Given the description of an element on the screen output the (x, y) to click on. 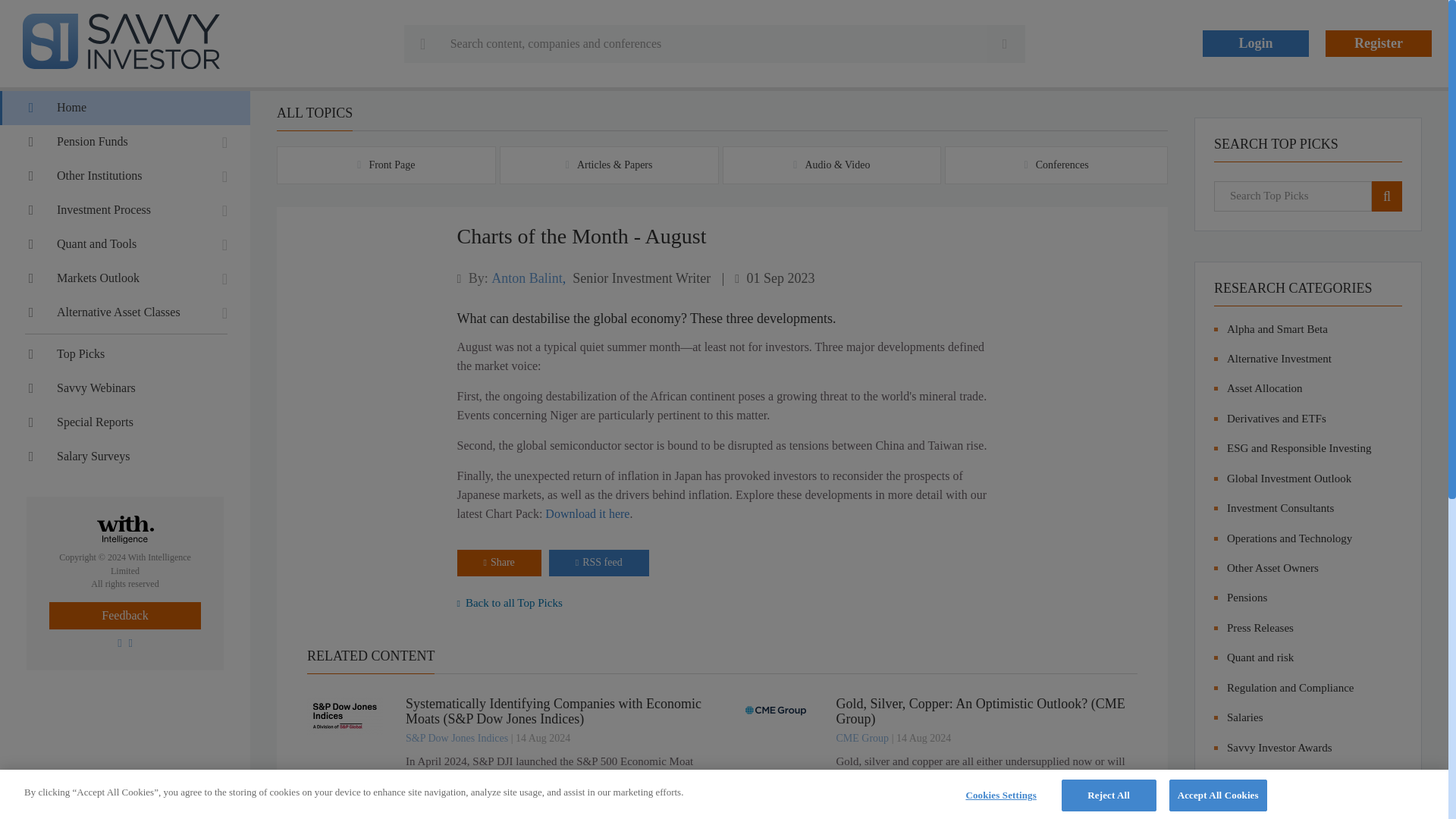
Login (1255, 43)
Home (125, 107)
Register (1377, 43)
search (1386, 195)
Pension Funds (125, 141)
